Given the description of an element on the screen output the (x, y) to click on. 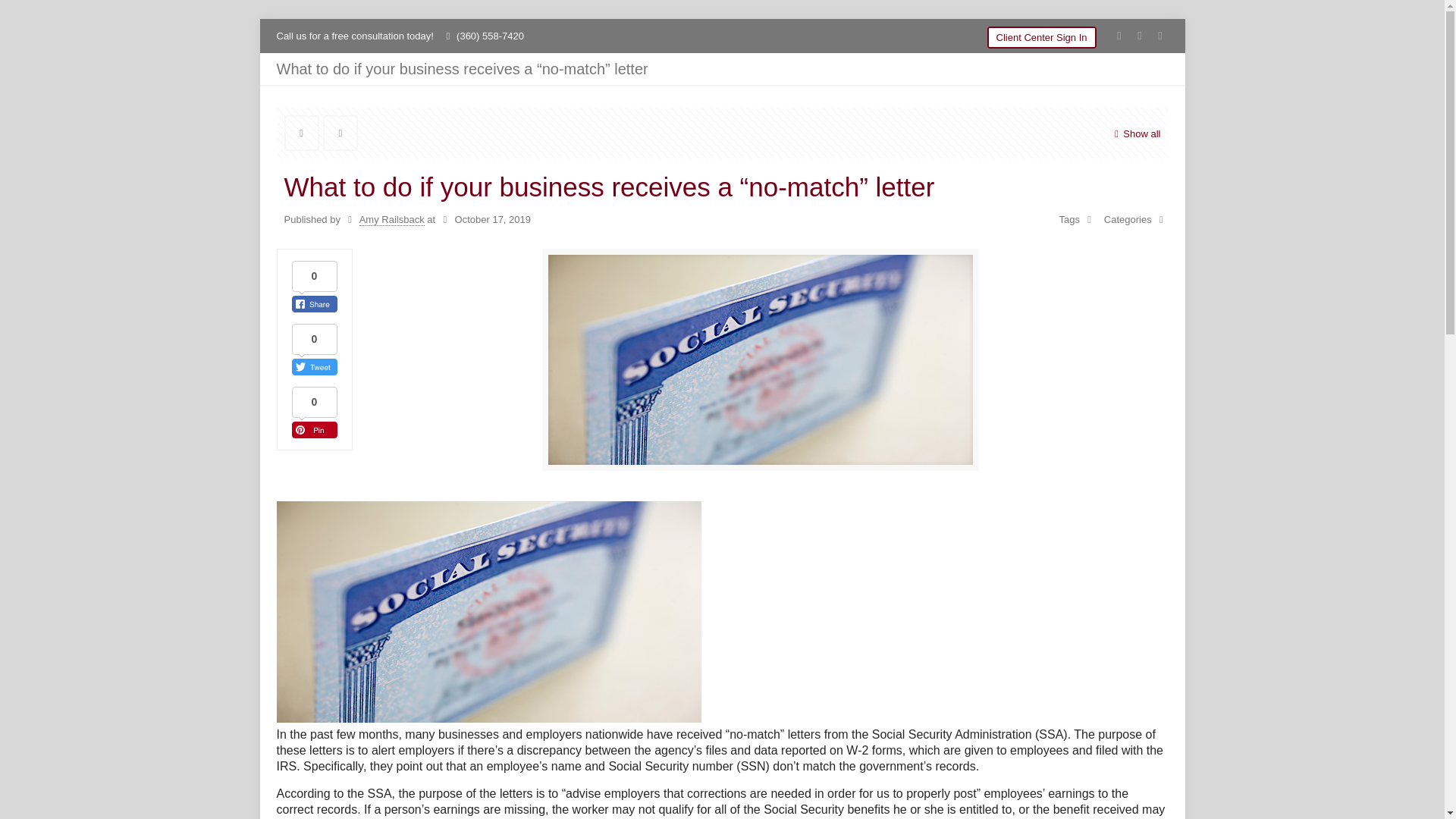
Client Center Sign In (1041, 37)
Facebook (1119, 34)
Show all (1134, 133)
Amy Railsback (392, 219)
LinkedIn (1161, 34)
file.jpg (759, 364)
Twitter (1139, 34)
